Given the description of an element on the screen output the (x, y) to click on. 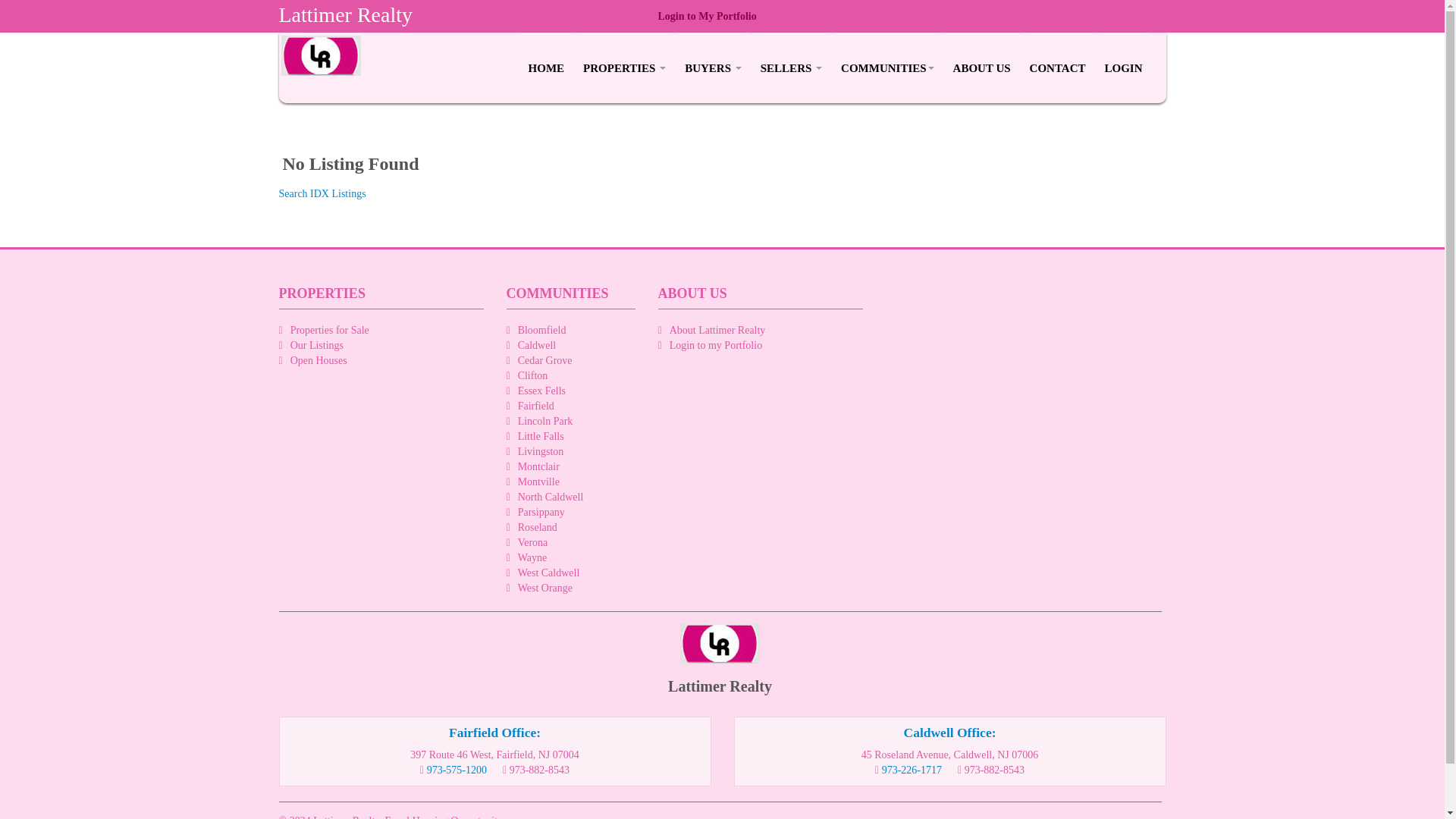
SELLERS (790, 67)
PROPERTIES (623, 67)
COMMUNITIES (887, 67)
BUYERS (713, 67)
Login to My Portfolio (707, 16)
